Given the description of an element on the screen output the (x, y) to click on. 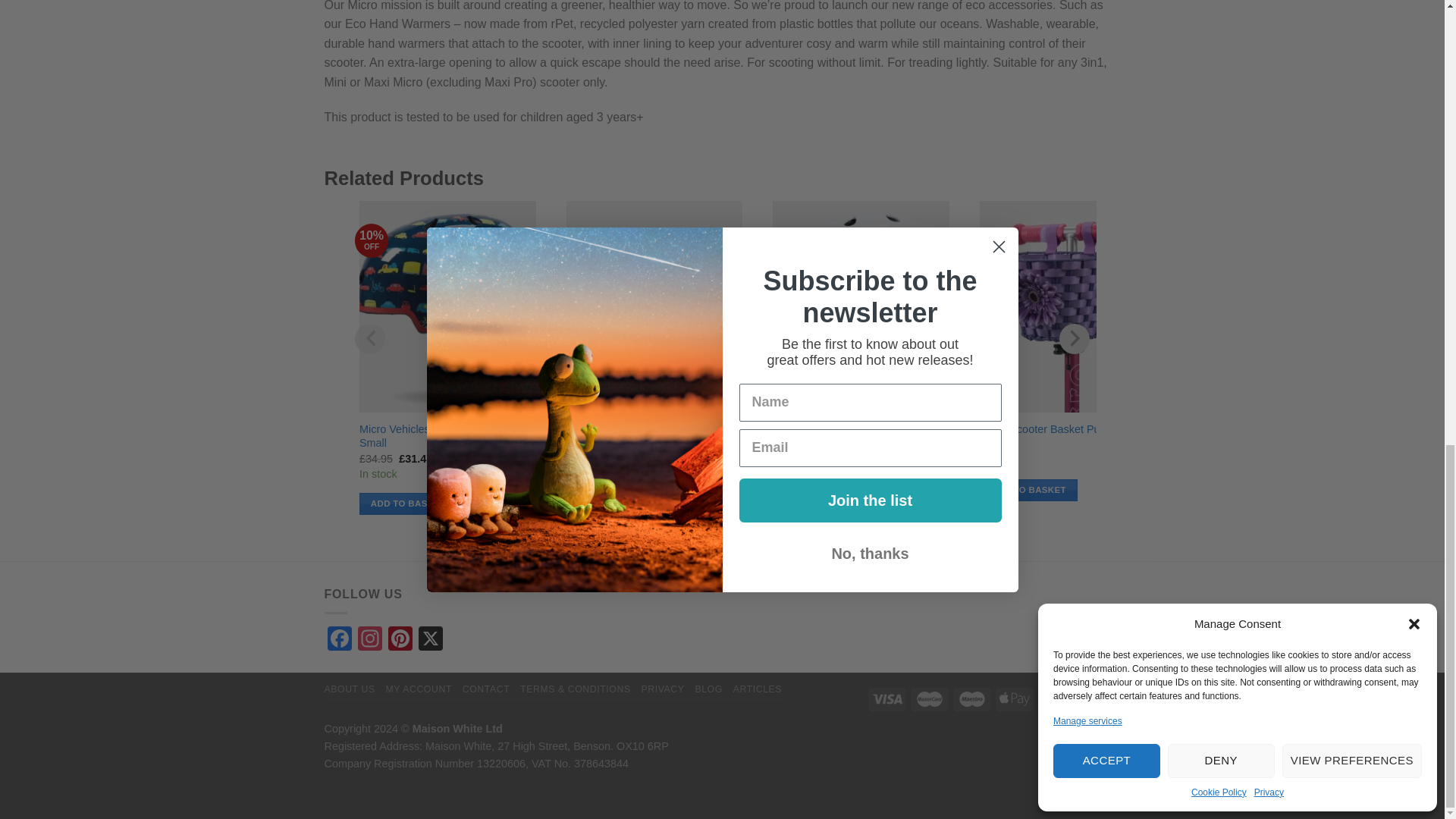
Minimum qty is 1 (408, 504)
Minimum qty is 1 (614, 490)
